Given the description of an element on the screen output the (x, y) to click on. 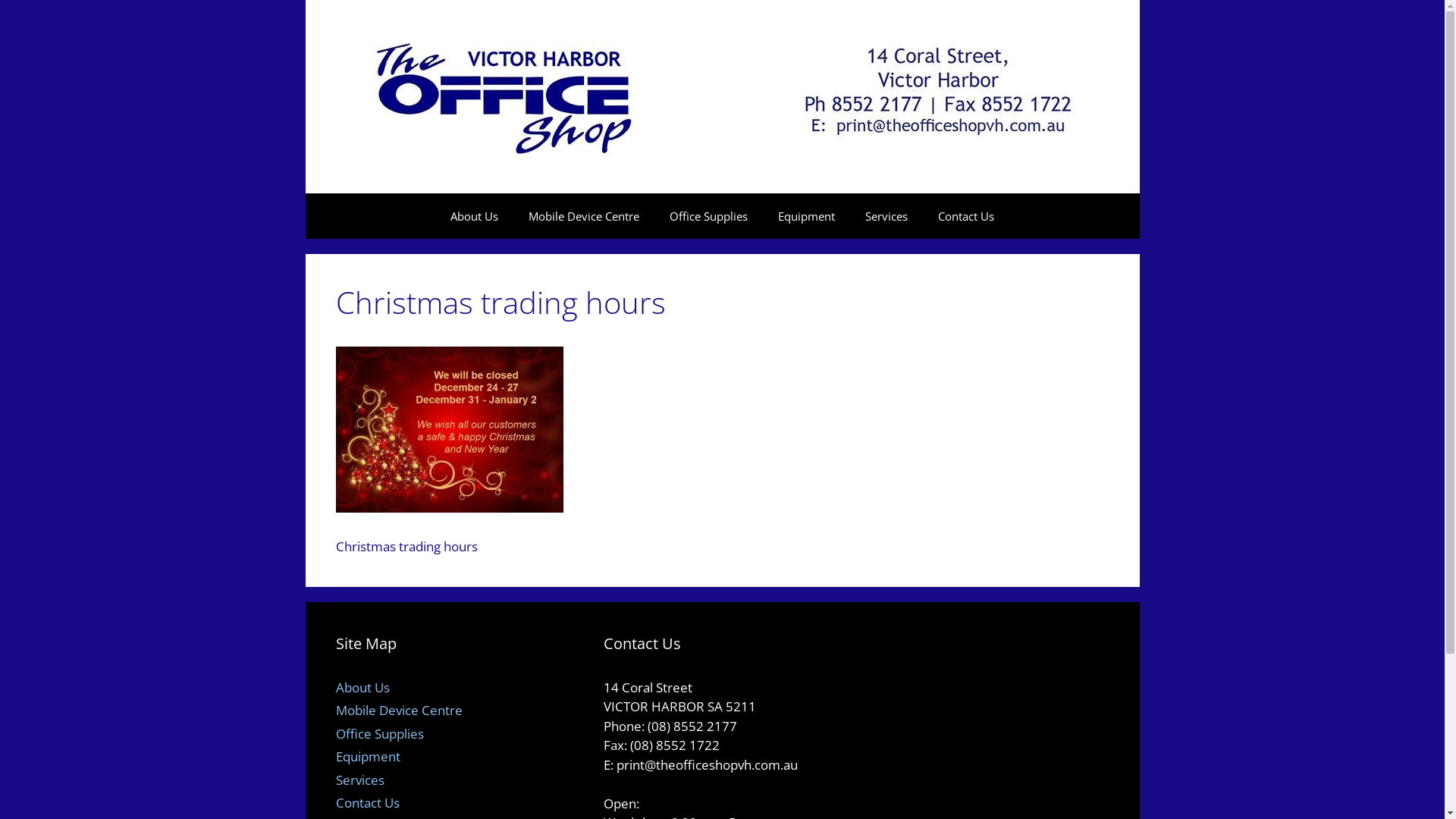
Office Supplies Element type: text (708, 215)
Contact Us Element type: text (965, 215)
Contact Us Element type: text (366, 802)
Mobile Device Centre Element type: text (398, 709)
Services Element type: text (886, 215)
Services Element type: text (359, 778)
Mobile Device Centre Element type: text (583, 215)
Office Supplies Element type: text (379, 733)
Equipment Element type: text (806, 215)
About Us Element type: text (362, 686)
About Us Element type: text (474, 215)
Equipment Element type: text (367, 756)
